Given the description of an element on the screen output the (x, y) to click on. 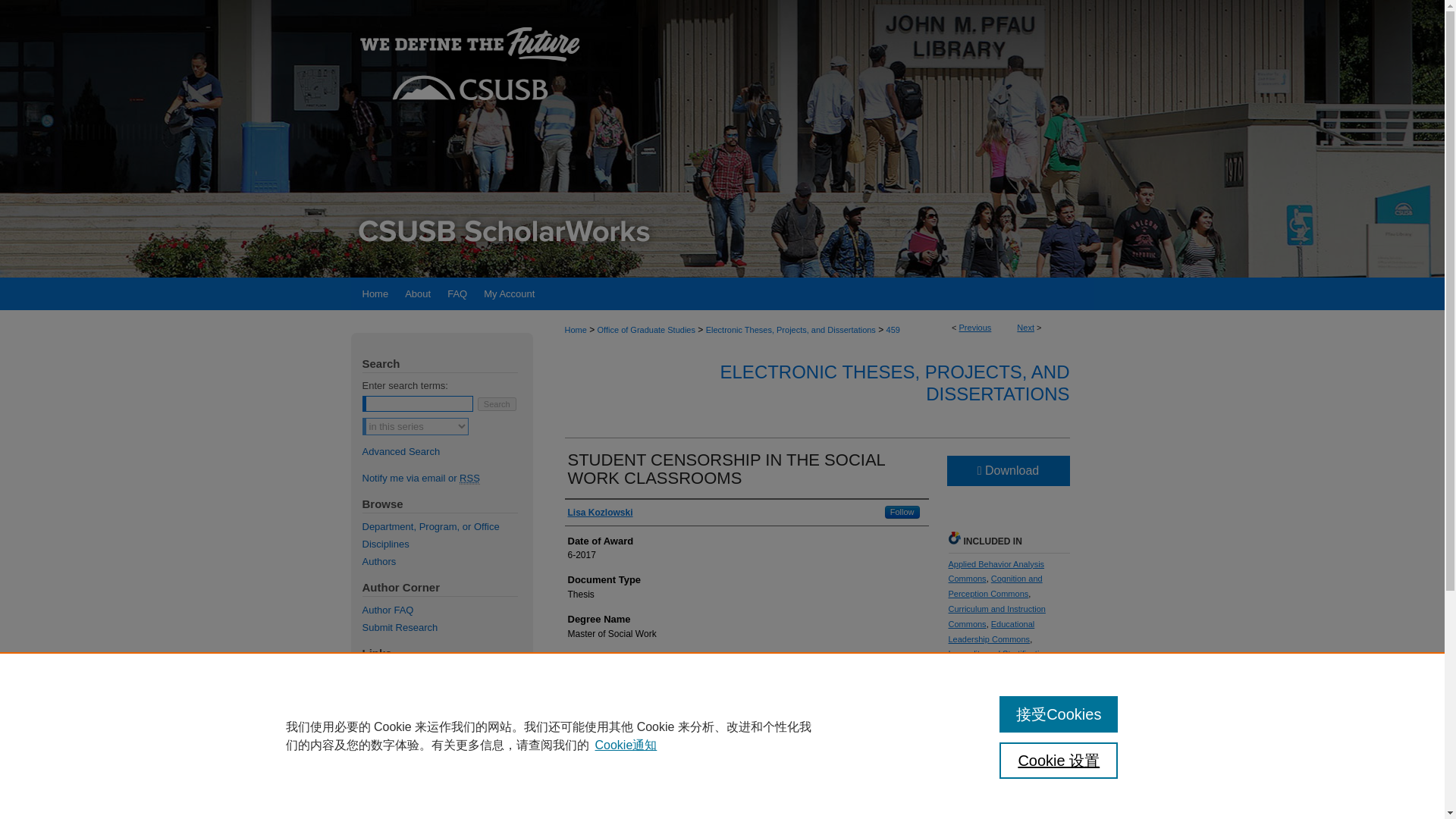
Politics and Social Change Commons (1002, 691)
ELECTRONIC THESES, PROJECTS, AND DISSERTATIONS (895, 382)
Social Work Commons (989, 803)
Cognition and Perception Commons (994, 586)
Educational Leadership Commons (990, 631)
Office of Graduate Studies (645, 329)
Curriculum and Instruction Commons (996, 616)
Cognition and Perception Commons (994, 586)
About (417, 293)
Sociology of Religion Commons (1006, 816)
Search (496, 404)
Social Psychology Commons (1002, 766)
FAQ (457, 293)
Curriculum and Instruction Commons (996, 616)
Home (373, 293)
